Given the description of an element on the screen output the (x, y) to click on. 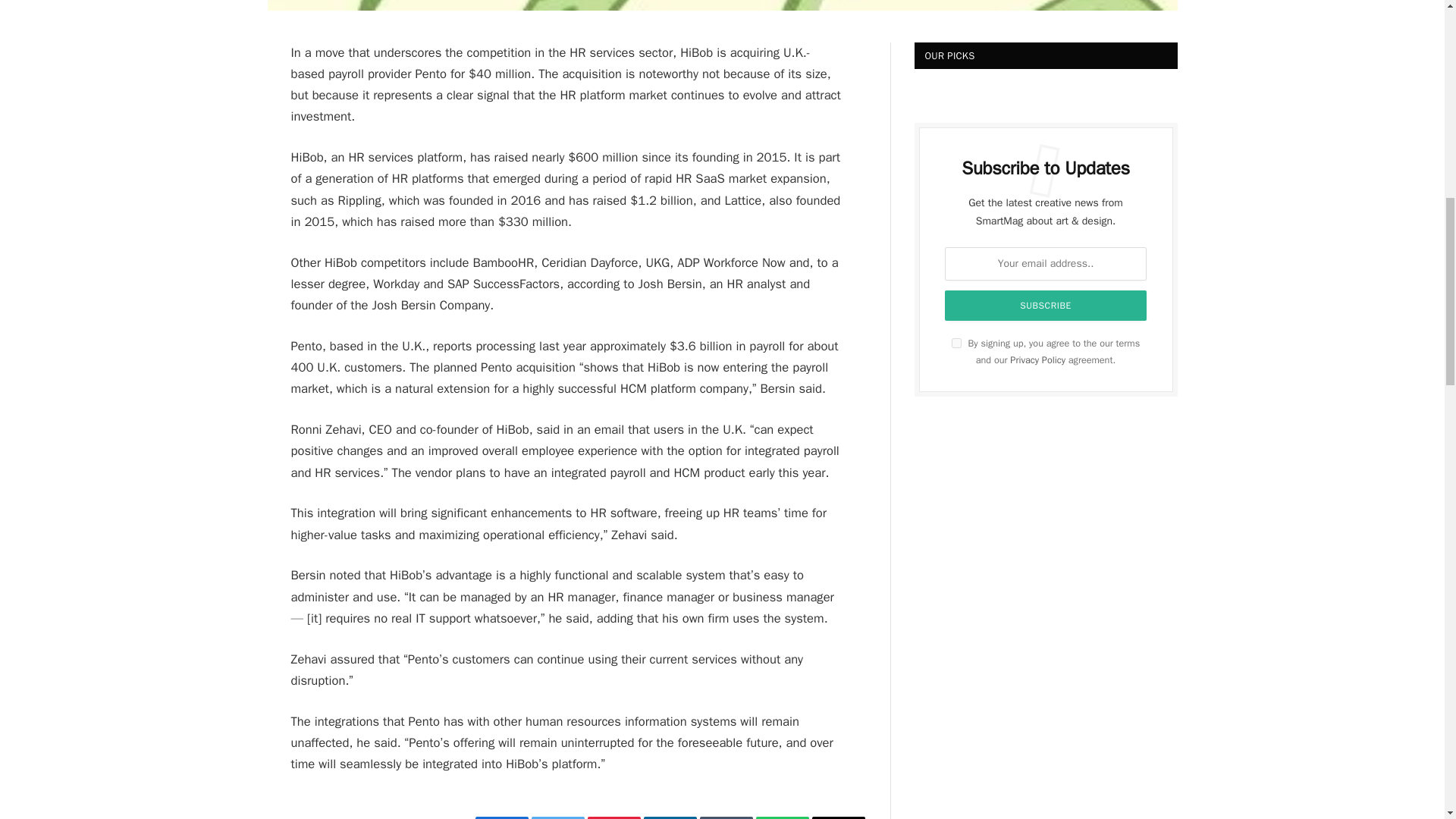
Subscribe (1045, 305)
Pinterest (613, 817)
on (956, 343)
Facebook (500, 817)
Twitter (557, 817)
